Given the description of an element on the screen output the (x, y) to click on. 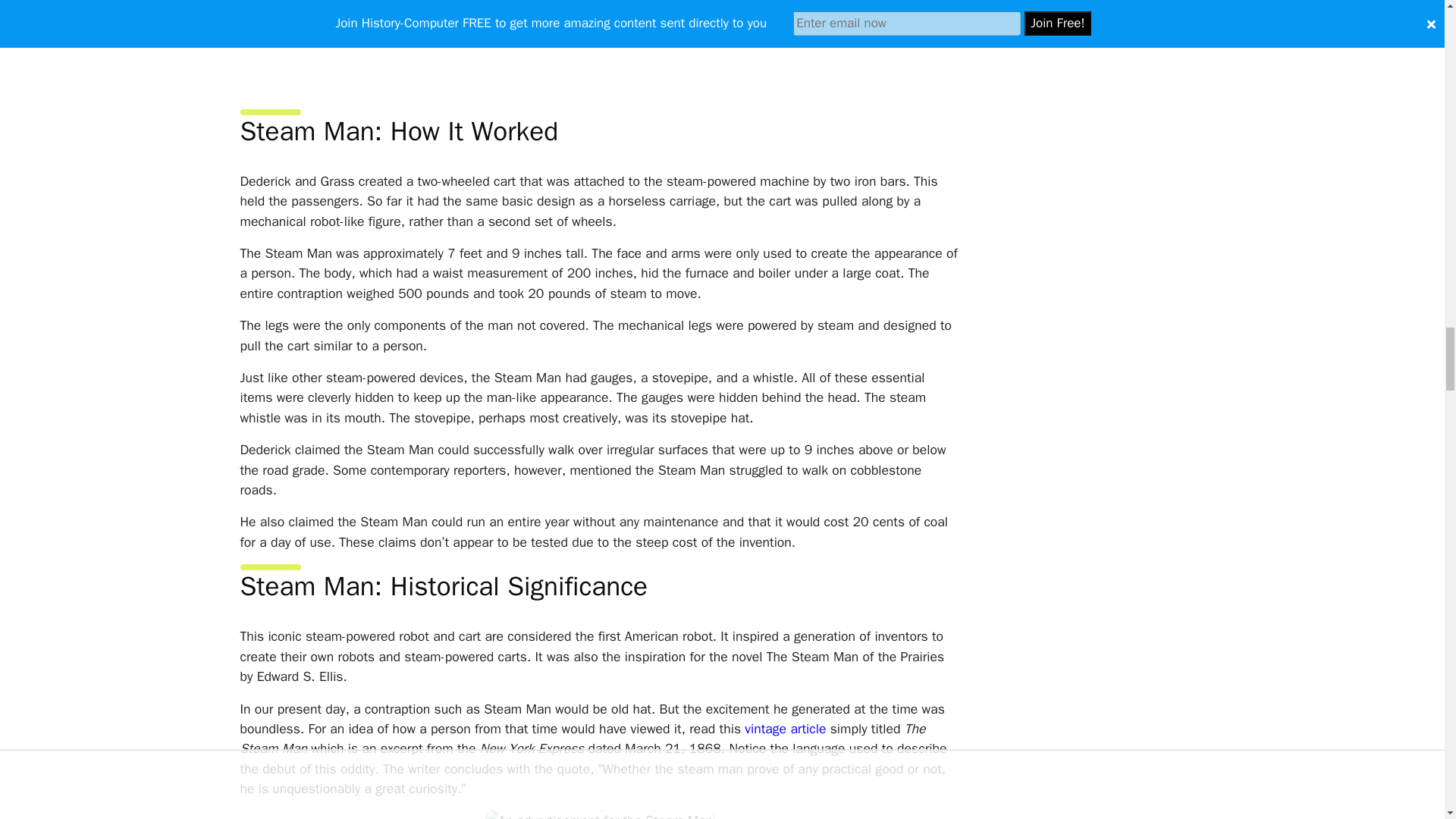
vintage article (784, 728)
